Given the description of an element on the screen output the (x, y) to click on. 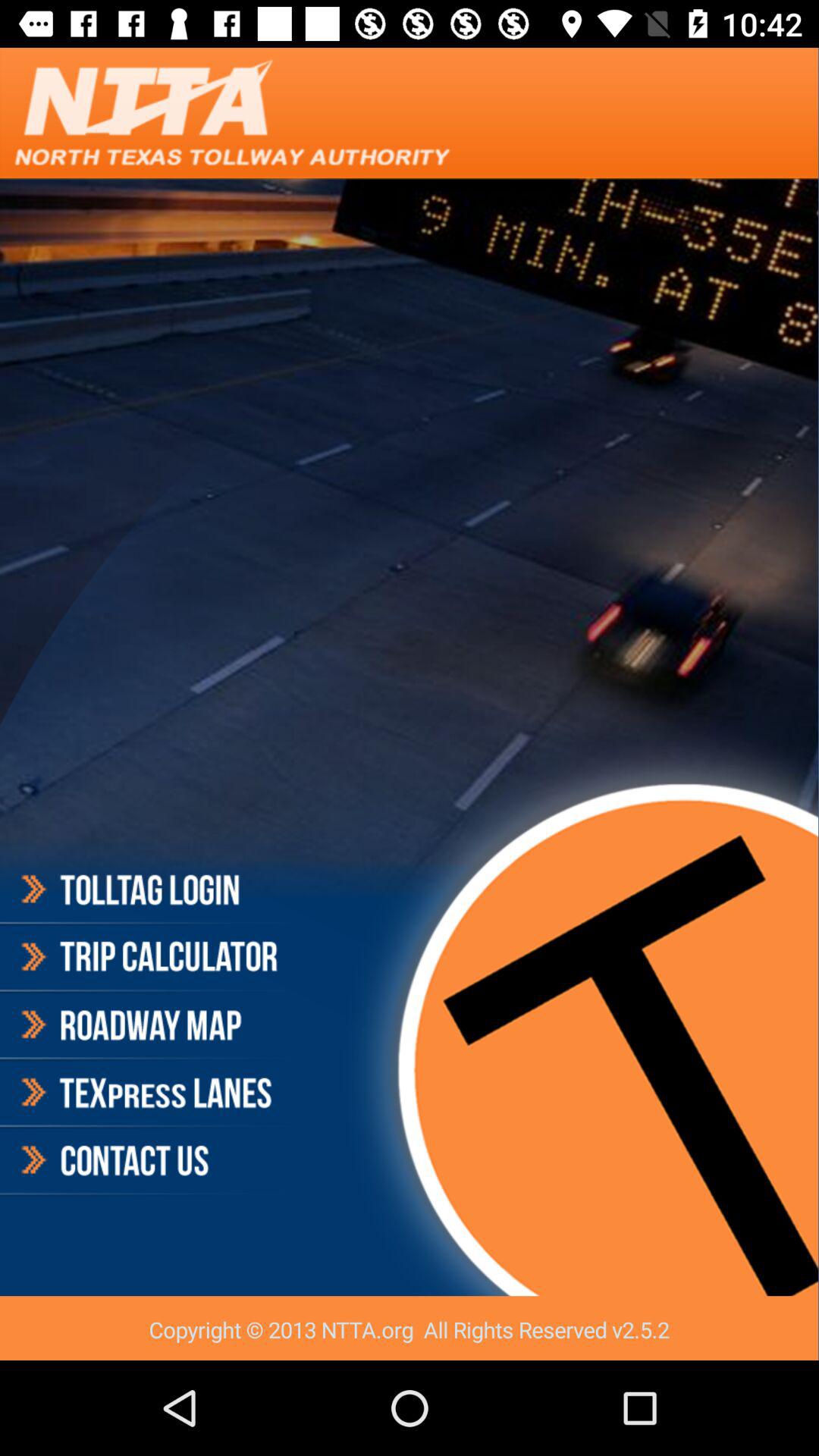
trip calculator (147, 957)
